Given the description of an element on the screen output the (x, y) to click on. 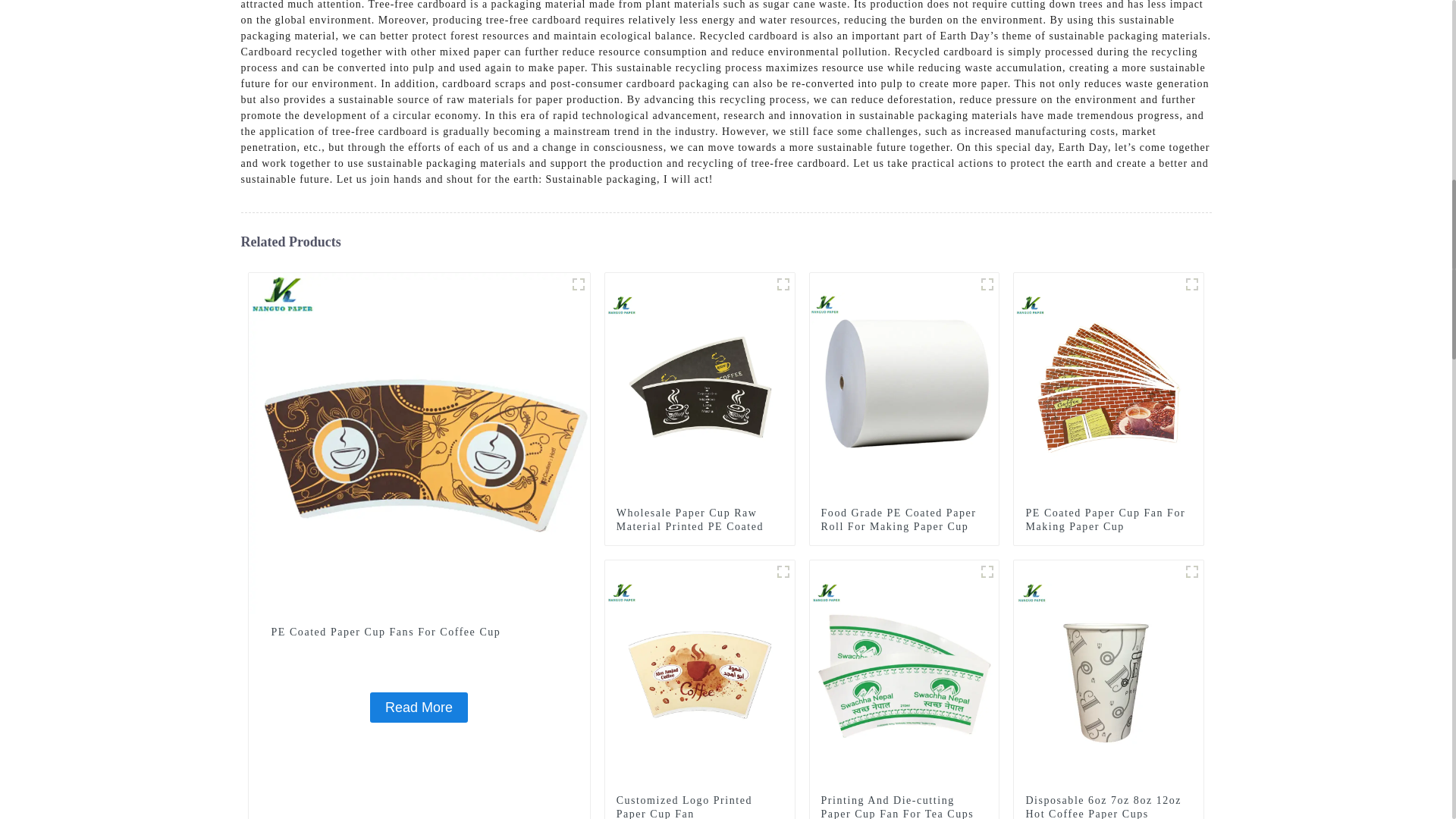
Customized Logo Printed Paper Cup Fan (699, 674)
PE Coated Paper Cup Fan For Making Paper Cup (1108, 519)
2 (782, 283)
Food Grade PE Coated Paper Roll For Making Paper Cup (904, 519)
PE Coated Paper Cup Fan For Making Paper Cup (1108, 386)
PE Coated Paper Cup Fans For Coffee Cup (418, 707)
PE Coated Paper Cup Fans For Coffee Cup (418, 441)
PE Coated Paper Cup Fans For Coffee Cup (418, 632)
4 (1192, 283)
Food Grade PE Coated Paper Roll For Making Paper Cup (903, 386)
1 (578, 283)
3 (782, 571)
2589 (986, 283)
Read More (418, 707)
